Given the description of an element on the screen output the (x, y) to click on. 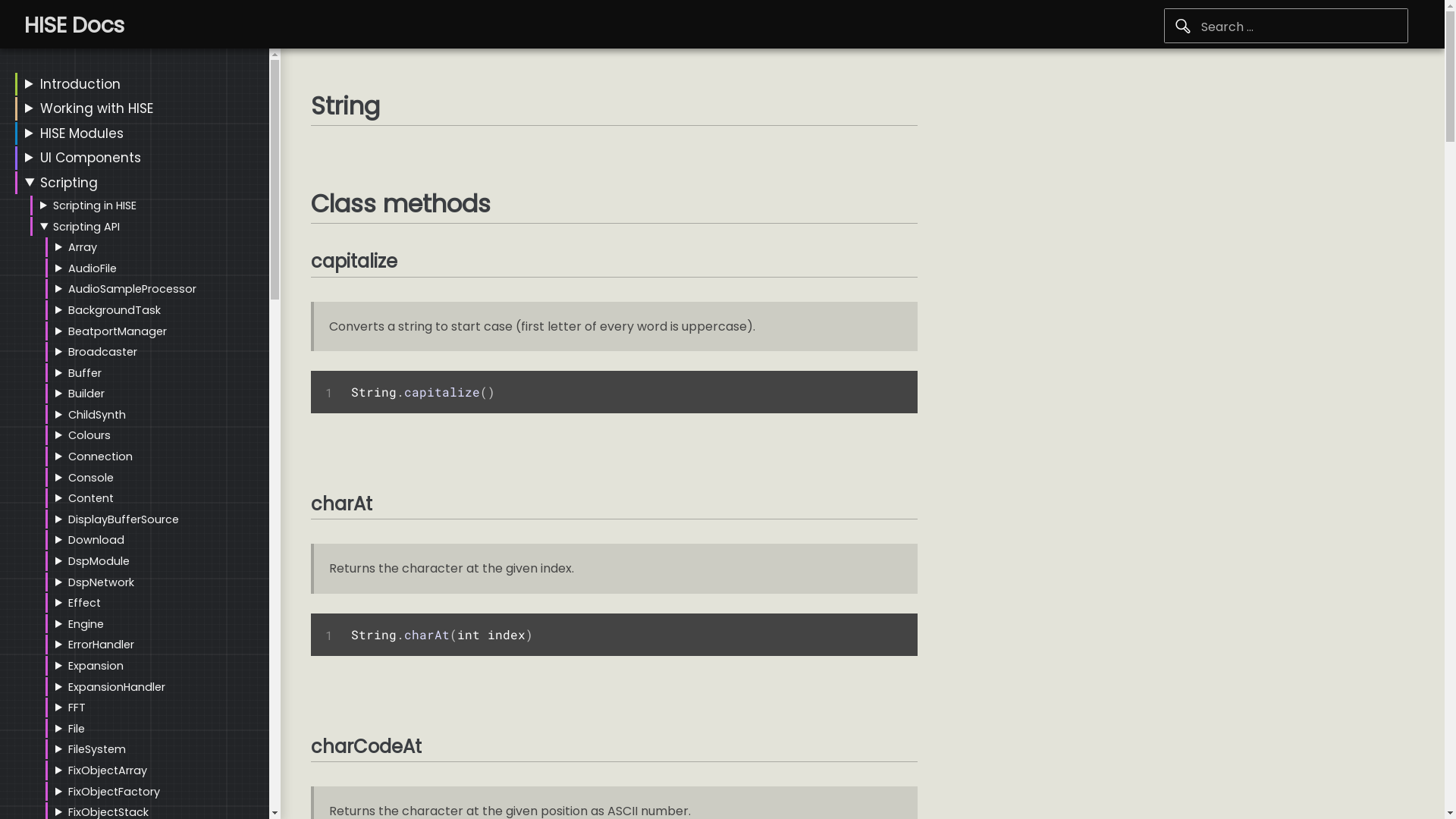
Scripting Element type: text (68, 182)
DspNetwork Element type: text (101, 581)
Engine Element type: text (85, 623)
File Element type: text (76, 728)
ExpansionHandler Element type: text (116, 686)
BeatportManager Element type: text (117, 330)
Colours Element type: text (89, 434)
Download Element type: text (96, 539)
Broadcaster Element type: text (102, 351)
Scripting API Element type: text (86, 226)
Expansion Element type: text (95, 665)
Scripting in HISE Element type: text (94, 205)
UI Components Element type: text (90, 157)
HISE Docs Element type: text (74, 25)
Content Element type: text (90, 497)
Effect Element type: text (84, 602)
Working with HISE Element type: text (96, 108)
FixObjectArray Element type: text (107, 770)
DisplayBufferSource Element type: text (123, 519)
ErrorHandler Element type: text (101, 644)
DspModule Element type: text (98, 560)
BackgroundTask Element type: text (114, 309)
Buffer Element type: text (84, 372)
AudioSampleProcessor Element type: text (132, 288)
Array Element type: text (82, 246)
AudioFile Element type: text (92, 268)
Connection Element type: text (100, 456)
FileSystem Element type: text (96, 748)
FFT Element type: text (76, 707)
Console Element type: text (90, 477)
Builder Element type: text (86, 393)
HISE Modules Element type: text (81, 133)
Introduction Element type: text (80, 84)
FixObjectFactory Element type: text (114, 791)
ChildSynth Element type: text (96, 414)
